Given the description of an element on the screen output the (x, y) to click on. 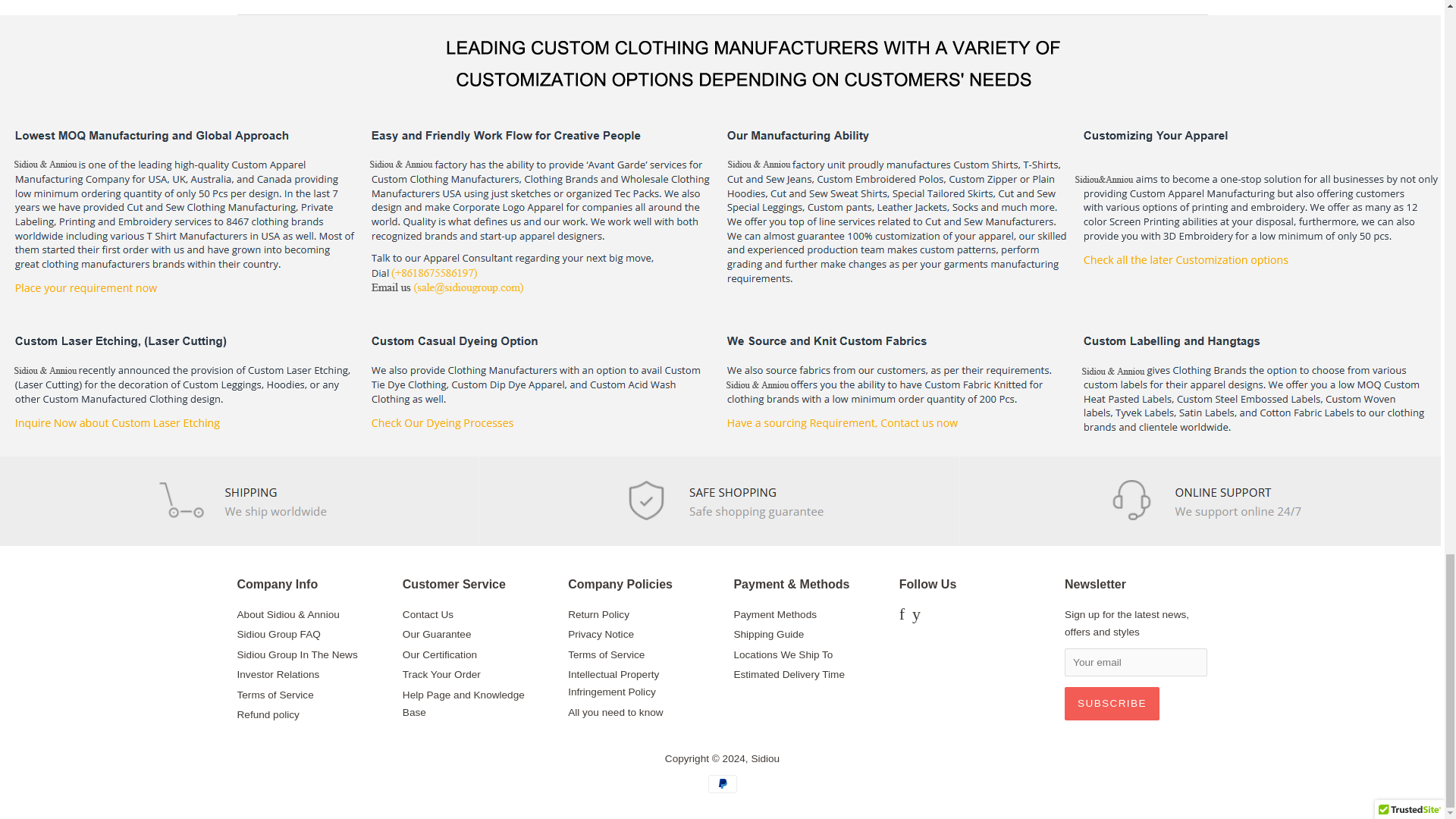
Subscribe (1111, 703)
PayPal (721, 783)
